Given the description of an element on the screen output the (x, y) to click on. 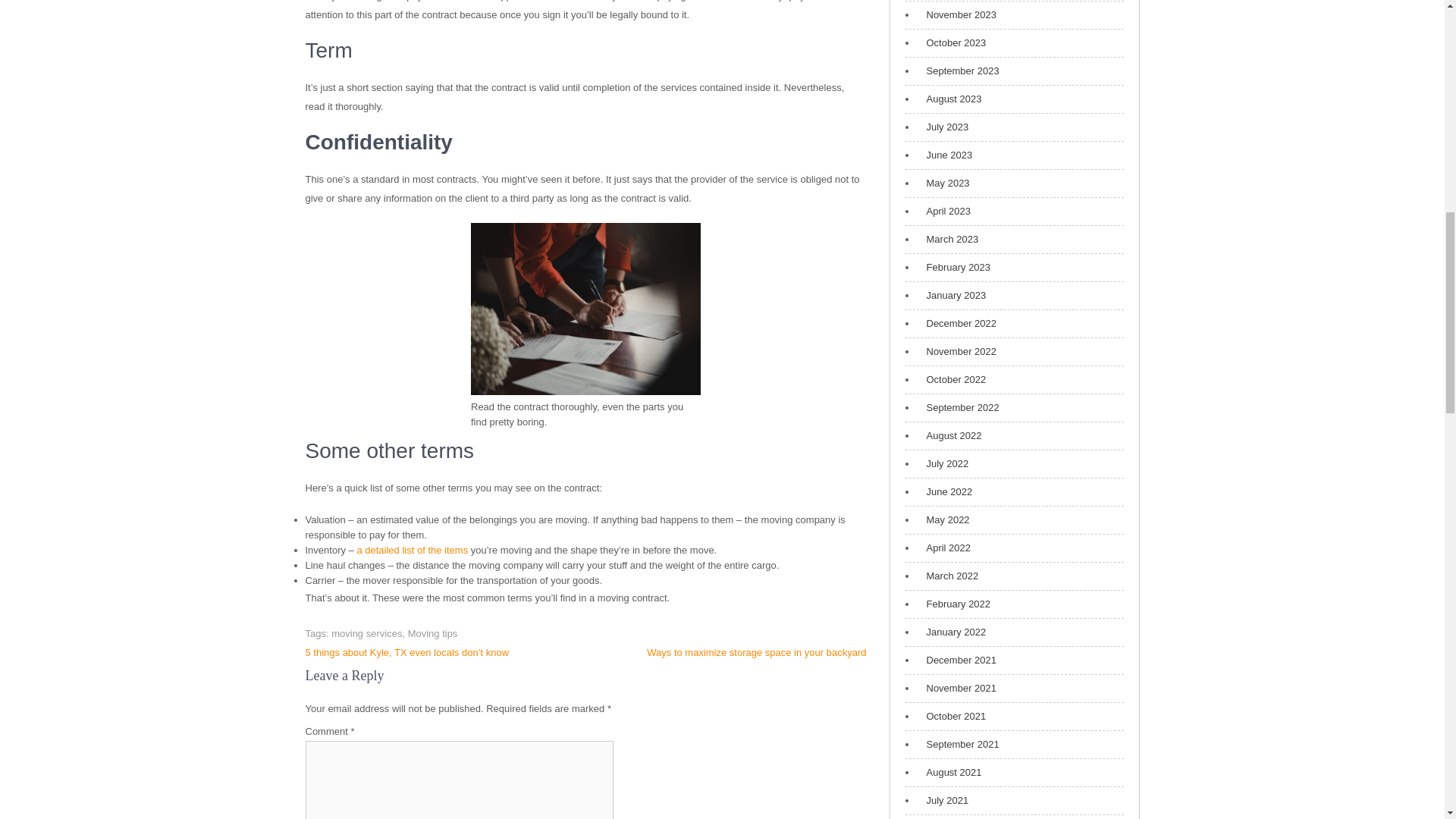
October 2023 (952, 43)
July 2023 (943, 127)
June 2023 (945, 155)
a detailed list of the items (411, 550)
June 2022 (945, 491)
moving services (366, 633)
November 2022 (957, 351)
March 2023 (948, 239)
November 2023 (957, 14)
December 2022 (957, 323)
September 2023 (958, 70)
July 2022 (943, 463)
Ways to maximize storage space in your backyard (756, 652)
September 2022 (958, 407)
August 2023 (949, 99)
